Given the description of an element on the screen output the (x, y) to click on. 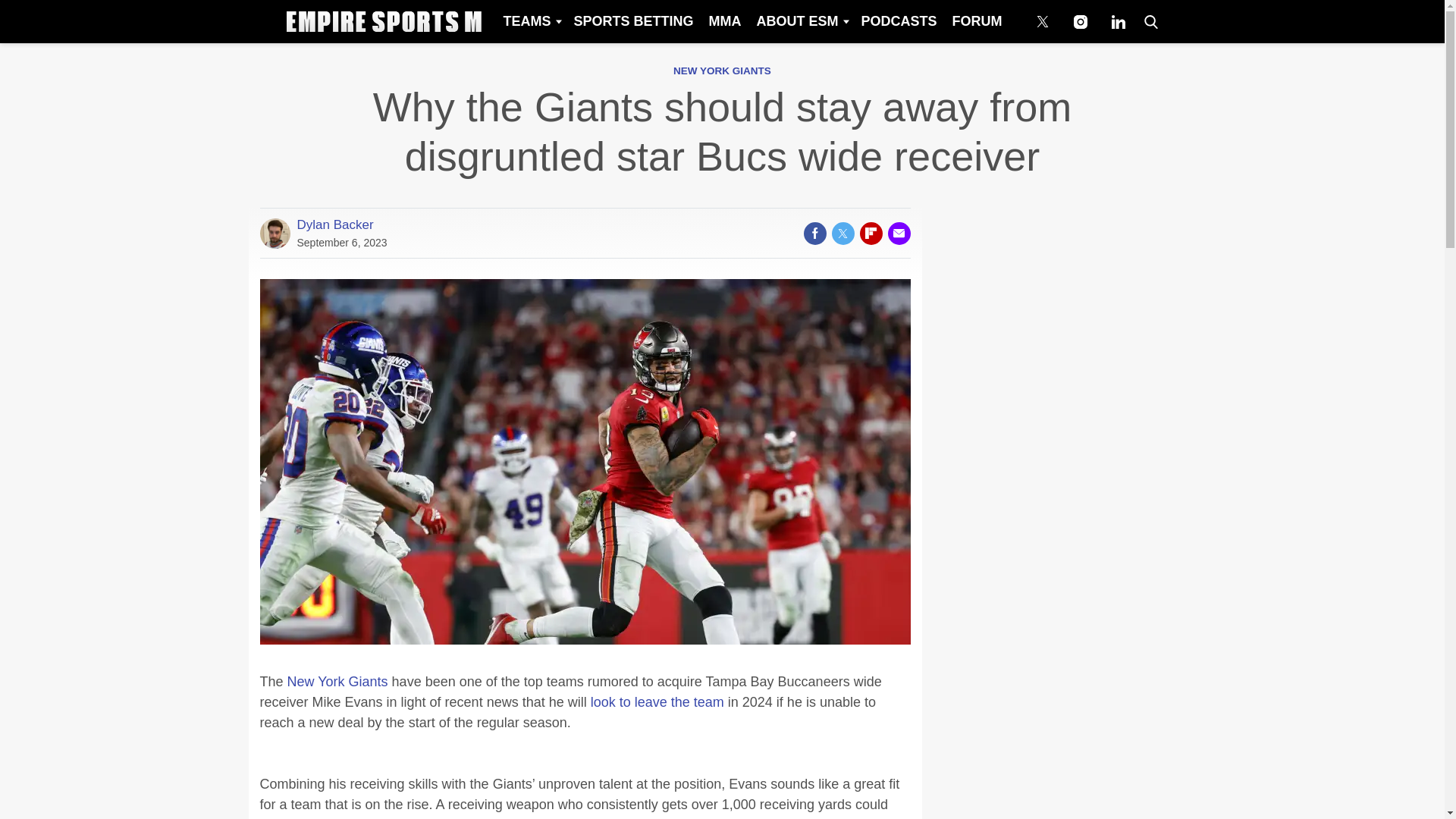
TEAMS (530, 21)
Dylan Backer (335, 225)
FORUM (977, 21)
SPORTS BETTING (633, 21)
PODCASTS (898, 21)
Share via Email (898, 232)
Share on Facebook (815, 232)
Share on Twitter (842, 232)
Share on Flipboard (871, 232)
New York Giants (338, 681)
ABOUT ESM (800, 21)
MMA (724, 21)
look to leave the team (657, 702)
Posts by Dylan Backer (335, 225)
NEW YORK GIANTS (721, 70)
